Given the description of an element on the screen output the (x, y) to click on. 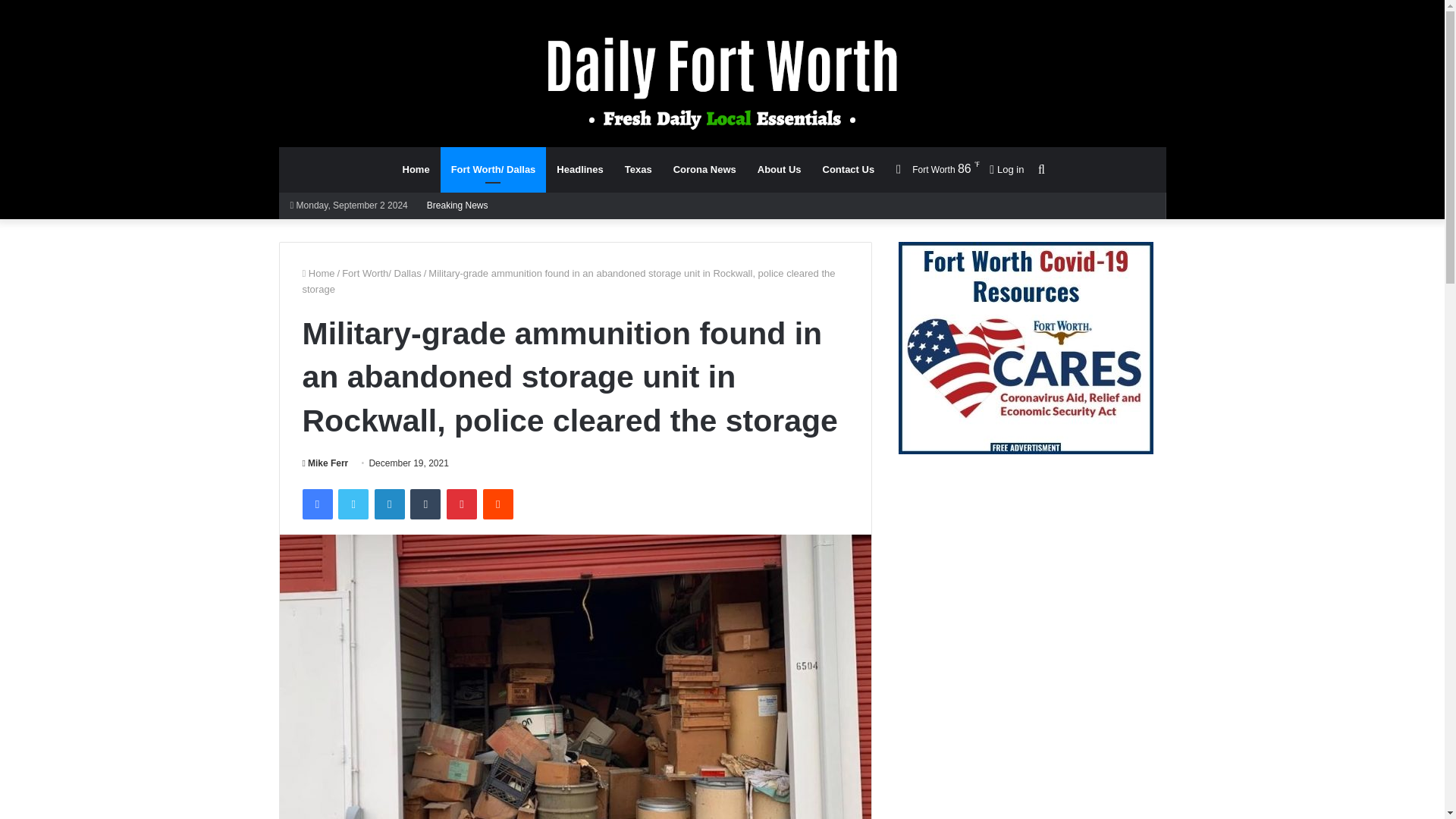
Reddit (498, 503)
Home (415, 169)
Twitter (352, 503)
LinkedIn (389, 503)
Facebook (316, 503)
Daily Fort Worth (721, 82)
Home (317, 273)
Texas (638, 169)
Clear Sky (932, 169)
Pinterest (461, 503)
